Given the description of an element on the screen output the (x, y) to click on. 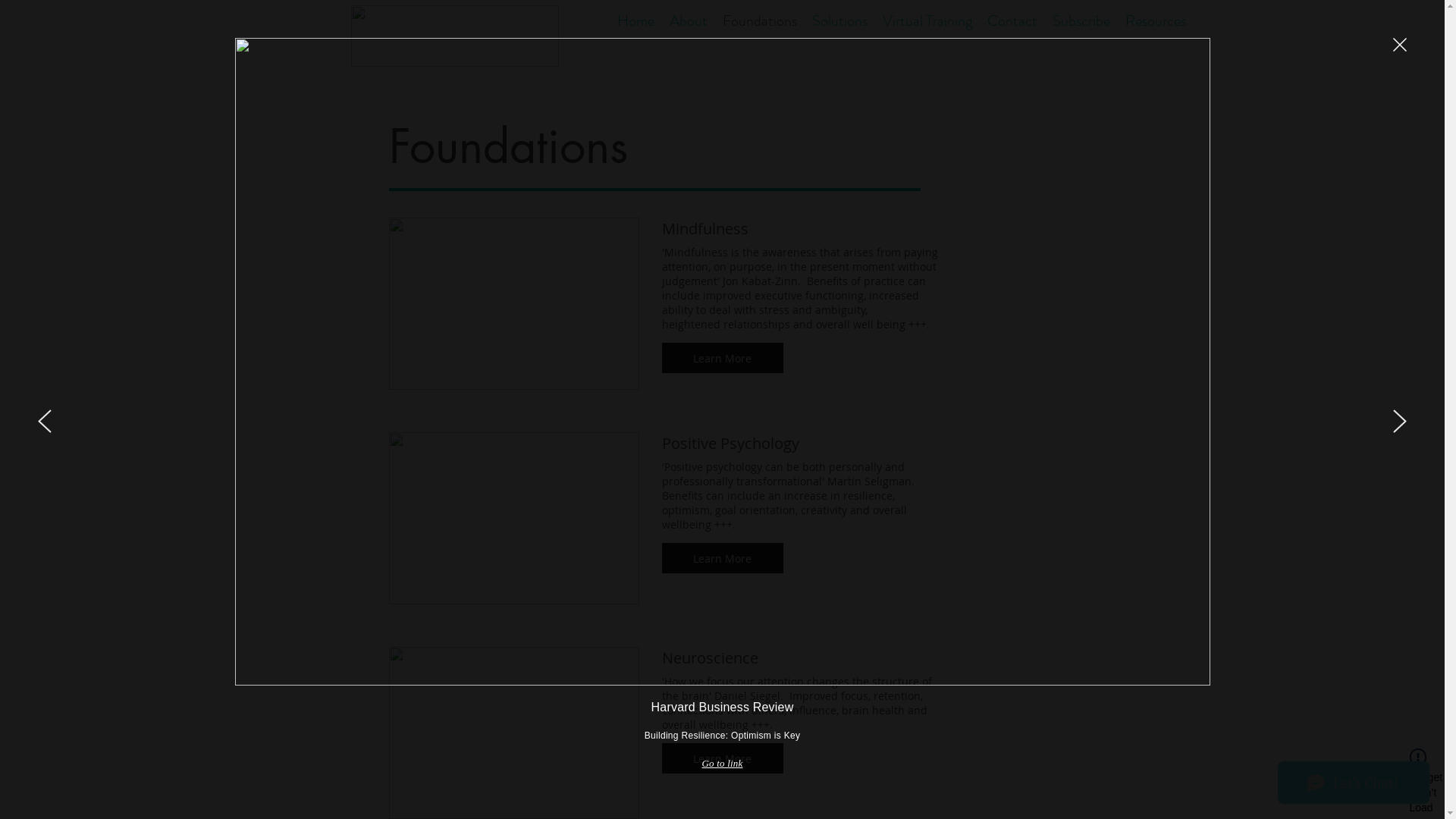
Solutions Element type: text (838, 20)
Positive Psyhcology Cortex Consulting Element type: hover (513, 518)
Subscribe Element type: text (1080, 20)
Contact Element type: text (1011, 20)
Virtual Training Element type: text (927, 20)
Learn More Element type: text (721, 357)
About Element type: text (687, 20)
Home Element type: text (635, 20)
Mindfulness Cortex Consulting Element type: hover (513, 303)
Foundations Element type: text (758, 20)
Learn More Element type: text (721, 557)
Go to link Element type: text (722, 763)
Learn More Element type: text (721, 758)
Resources Element type: text (1155, 20)
